Given the description of an element on the screen output the (x, y) to click on. 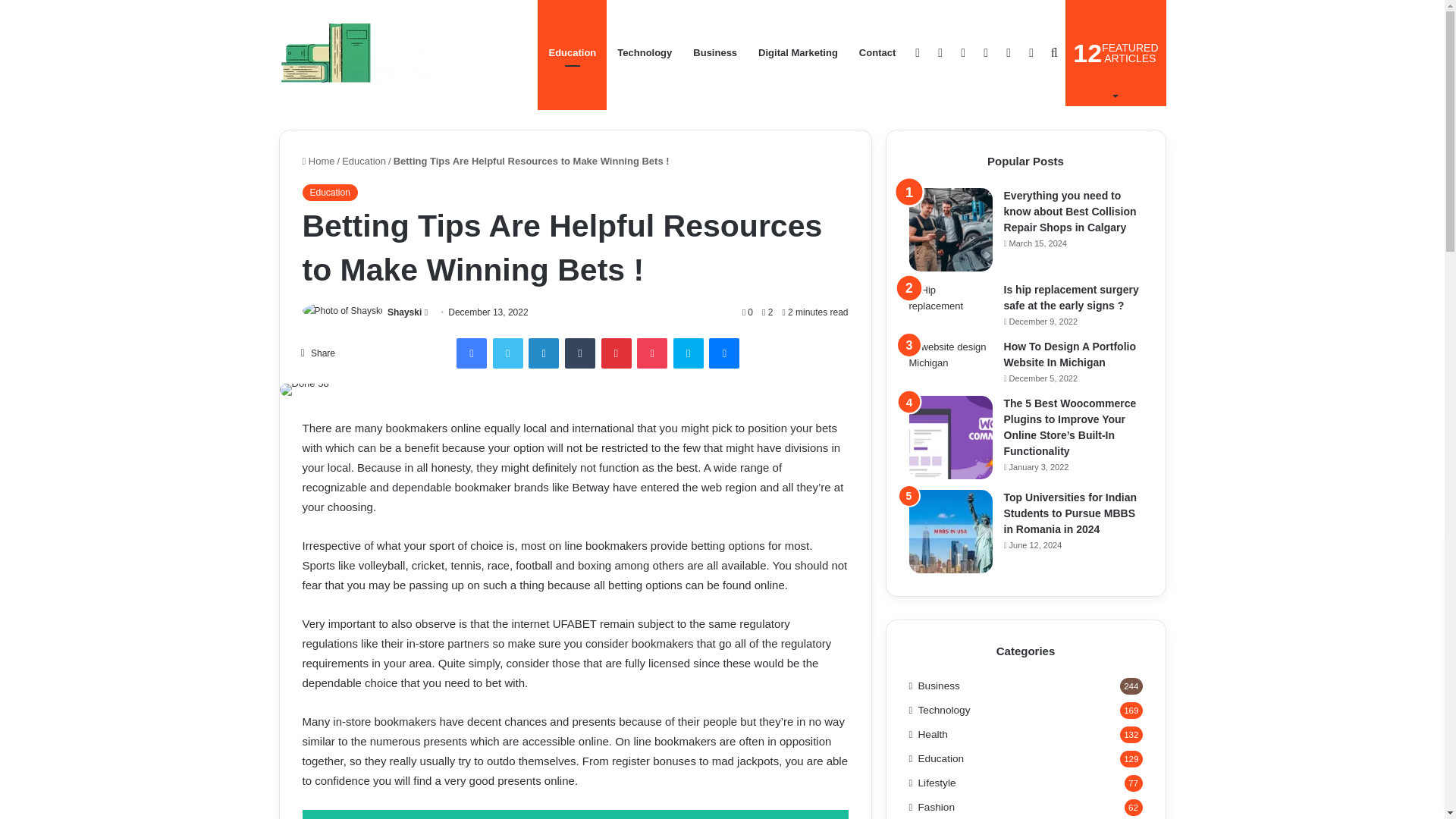
Skayski (373, 52)
Digital Marketing (798, 53)
